Given the description of an element on the screen output the (x, y) to click on. 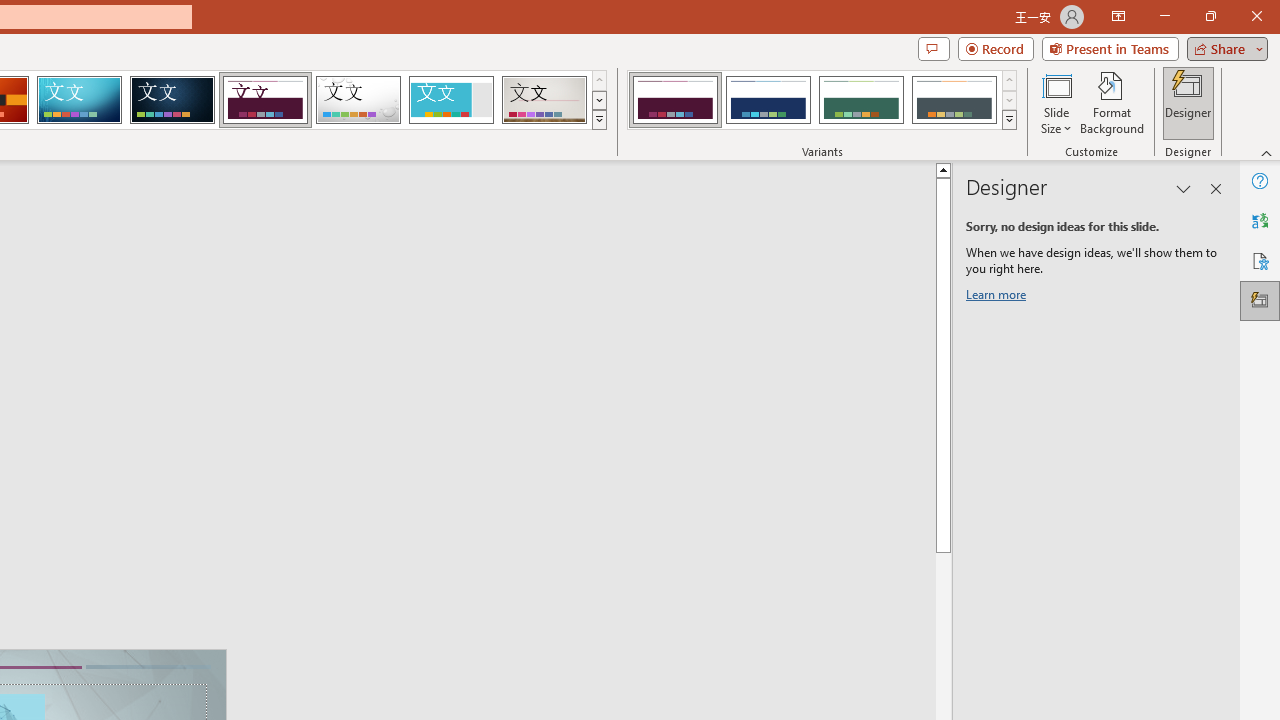
Themes (598, 120)
Record (995, 48)
Dividend Variant 3 (861, 100)
Share (1223, 48)
Designer (1188, 102)
Present in Teams (1109, 48)
Dividend (265, 100)
Format Background (1111, 102)
Gallery (544, 100)
Line up (943, 169)
Row Down (1009, 100)
Frame (450, 100)
Row up (1009, 79)
Accessibility (1260, 260)
